Given the description of an element on the screen output the (x, y) to click on. 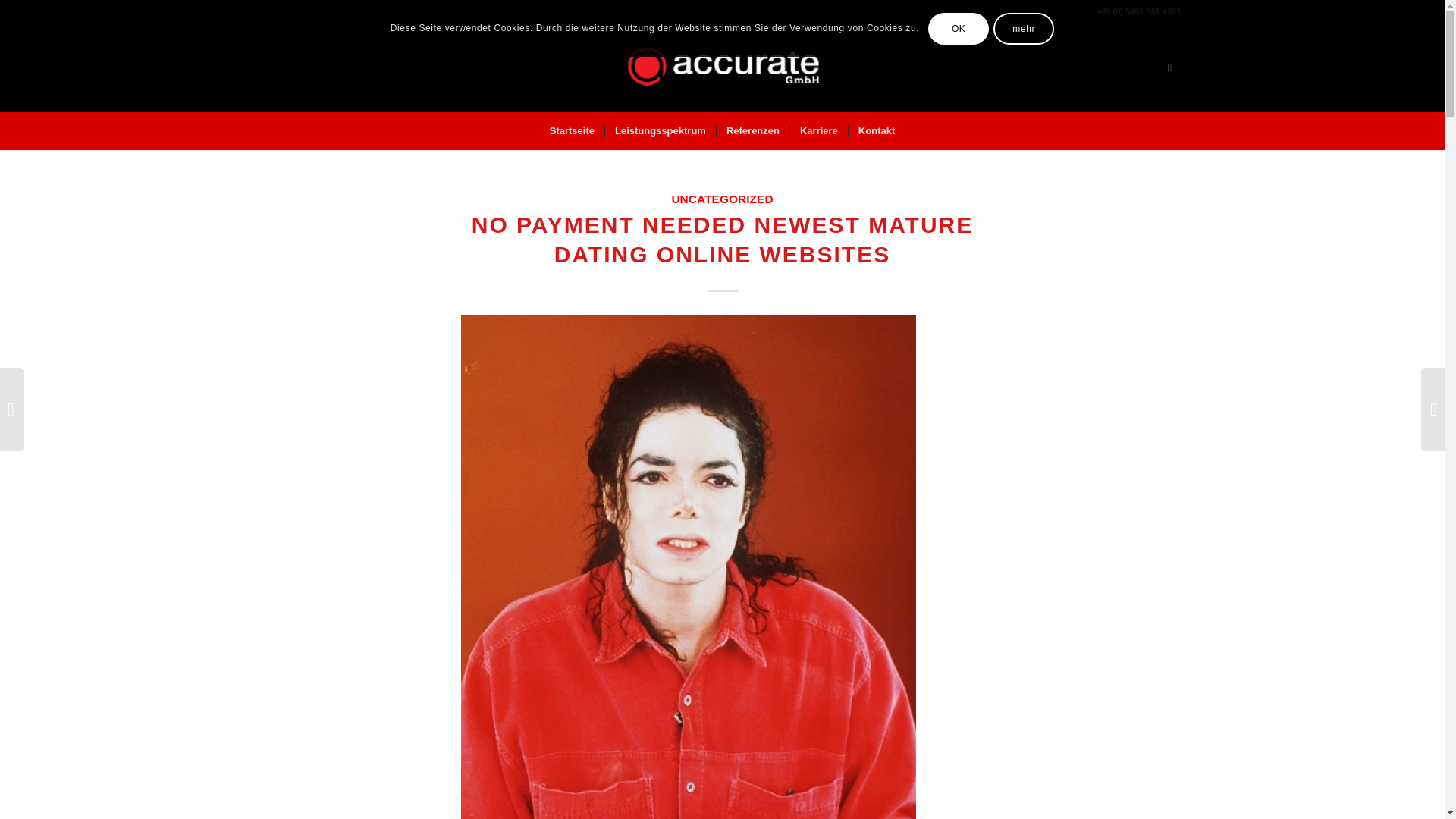
Leistungsspektrum (660, 130)
Startseite (572, 130)
Karriere (818, 130)
Referenzen (752, 130)
UNCATEGORIZED (722, 198)
Kontakt (875, 130)
Facebook (1169, 67)
